Given the description of an element on the screen output the (x, y) to click on. 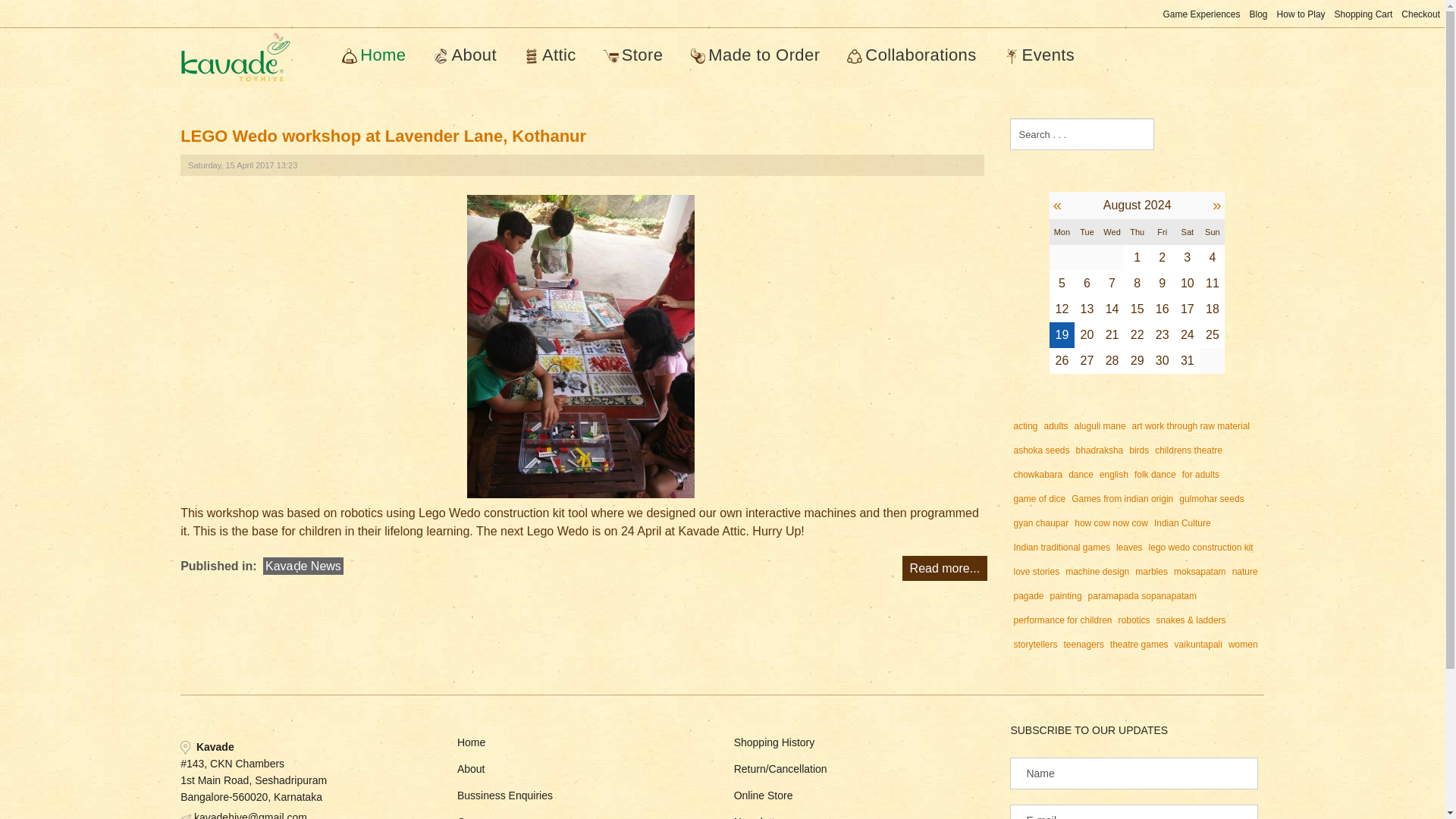
1 items tagged with bhadraksha (1099, 450)
1 items tagged with chowkabara (1037, 474)
LEGO Wedo workshop at Lavender Lane, Kothanur (383, 135)
Blog (1258, 14)
1 items tagged with acting (1025, 426)
Search . . . (1082, 133)
acting (1025, 426)
1 items tagged with dance (1080, 474)
how cow now cow (1111, 523)
Shopping Cart (1364, 14)
